Given the description of an element on the screen output the (x, y) to click on. 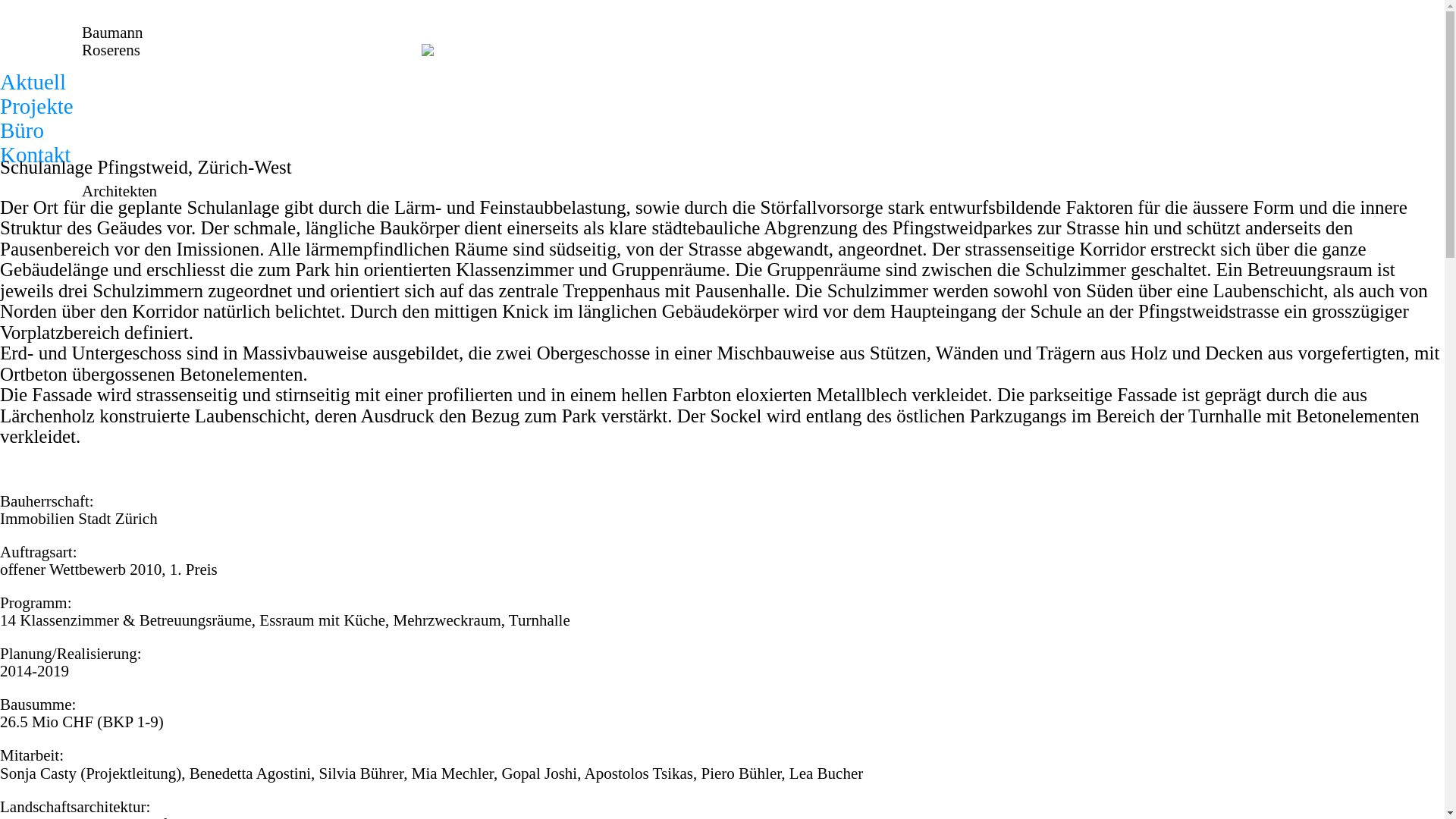
Aktuell Element type: text (32, 81)
Baumann
Roserens Element type: text (118, 41)
Projekte Element type: text (36, 106)
Kontakt Element type: text (35, 154)
